Given the description of an element on the screen output the (x, y) to click on. 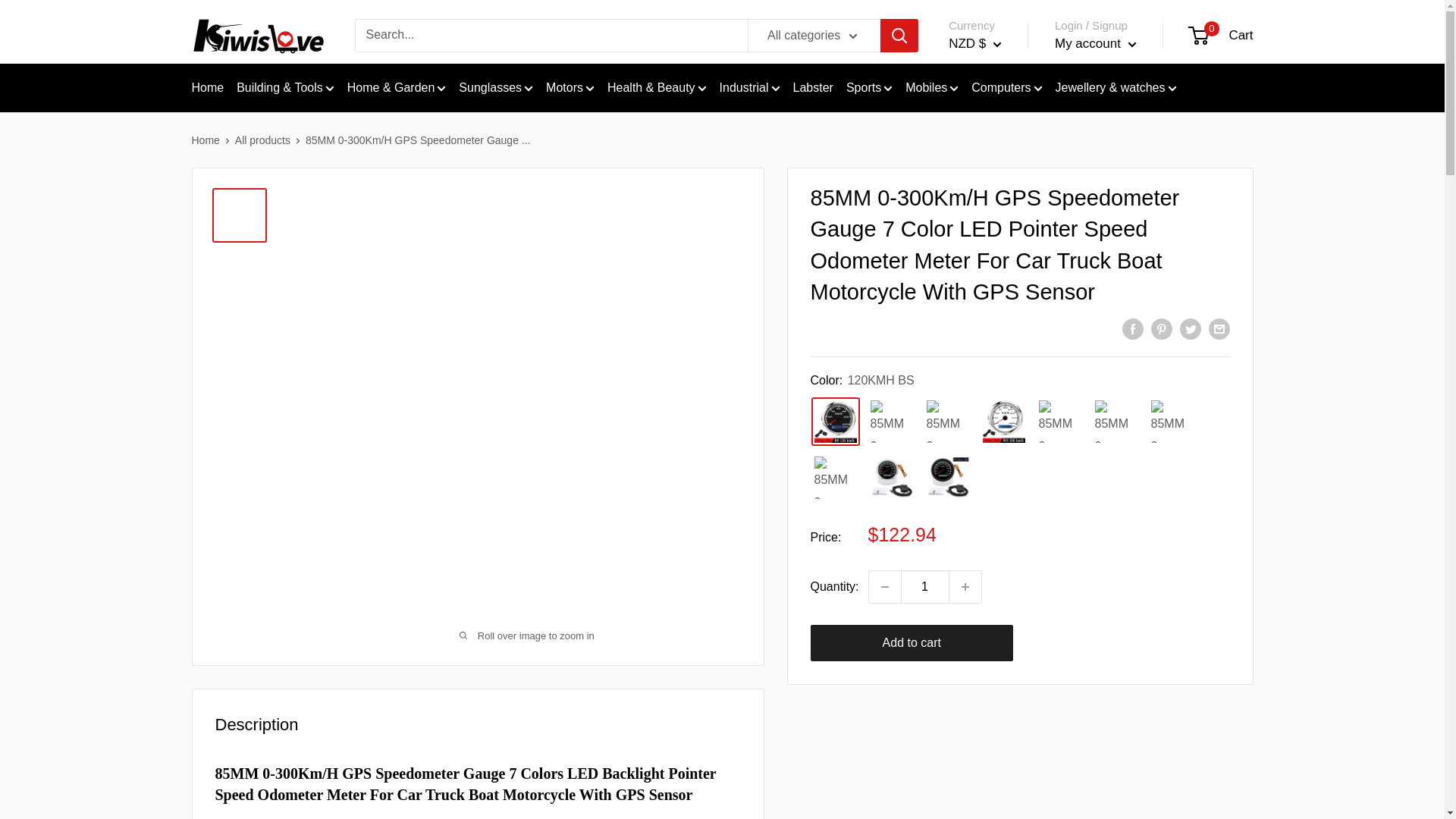
1 (925, 586)
300KMH 7 Color LED (891, 477)
60KMH BS (1172, 421)
200KMH WS (1003, 421)
300KMH 7 Color LED 1 (947, 477)
120KMH BS (835, 421)
30KMH BS (1059, 421)
Decrease quantity by 1 (885, 586)
60KMH WS (835, 477)
Increase quantity by 1 (965, 586)
30KMH WS (1116, 421)
200KMH BS (947, 421)
120KMH WS (891, 421)
